Given the description of an element on the screen output the (x, y) to click on. 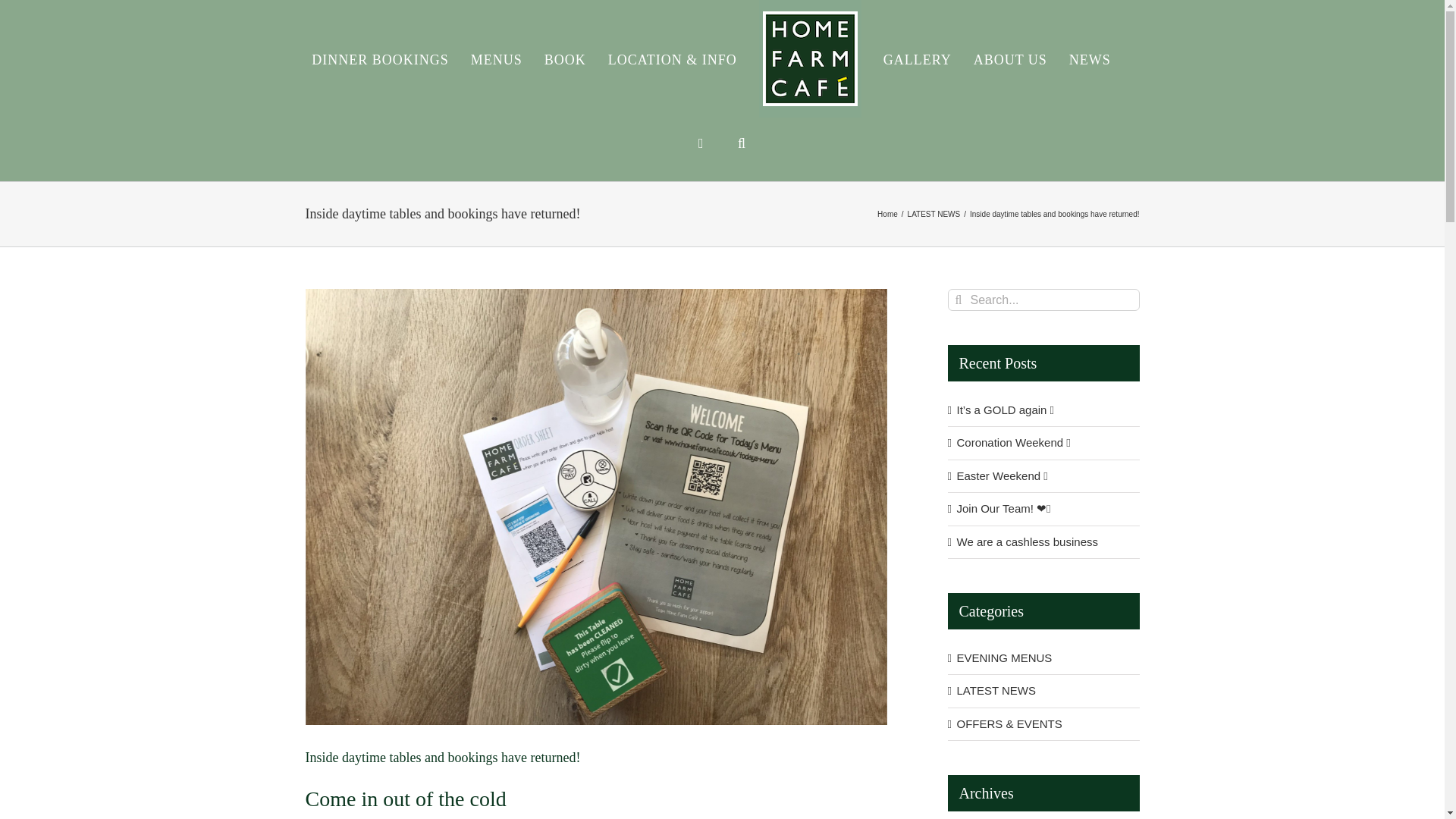
DINNER BOOKINGS (379, 58)
ABOUT US (1010, 58)
GALLERY (917, 58)
